Given the description of an element on the screen output the (x, y) to click on. 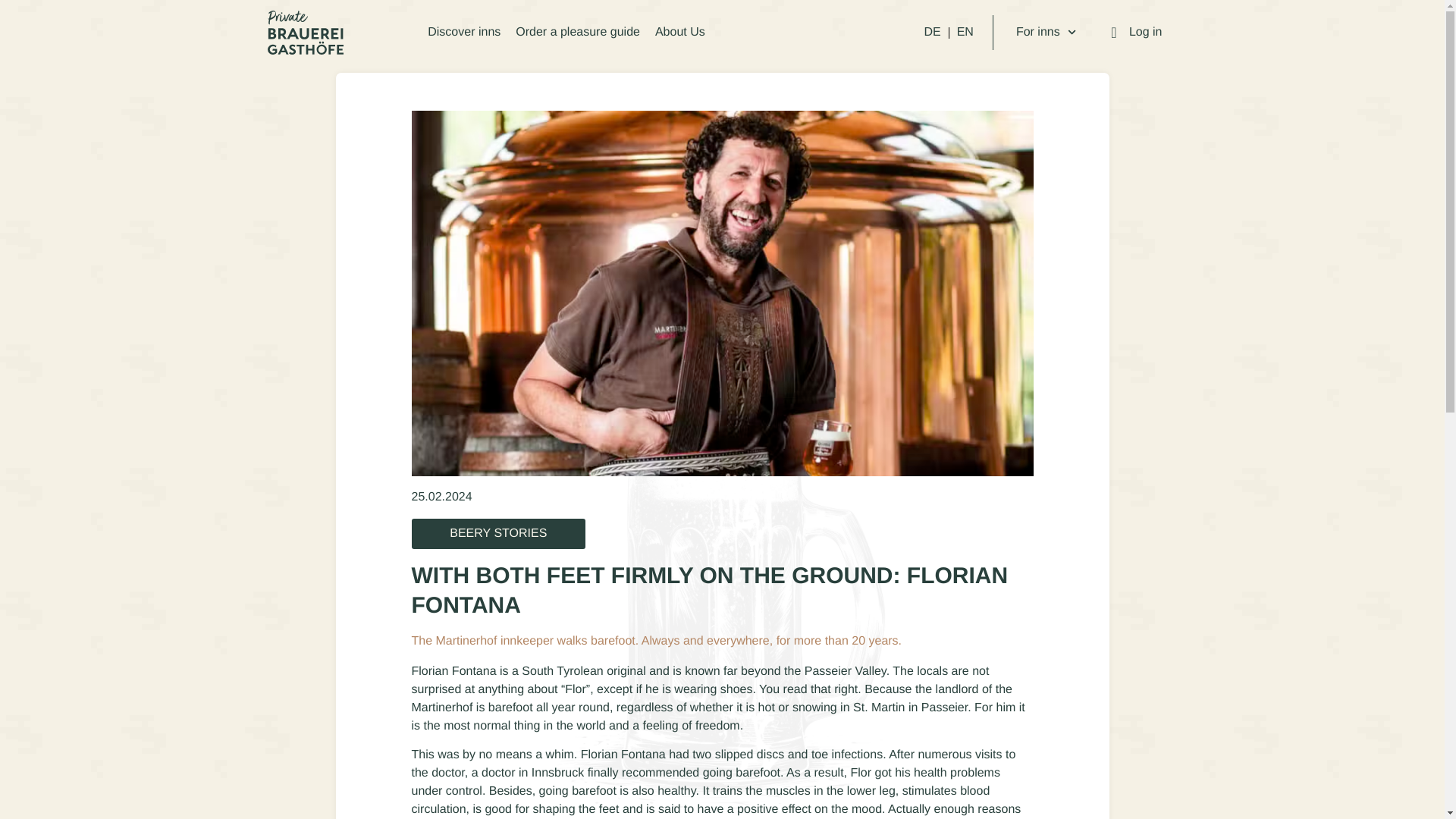
EN (965, 32)
Order a pleasure guide (577, 32)
About Us (680, 32)
For inns (1046, 32)
DE (931, 32)
Log in (1134, 32)
BEERY STORIES (498, 533)
Discover inns (464, 32)
